Given the description of an element on the screen output the (x, y) to click on. 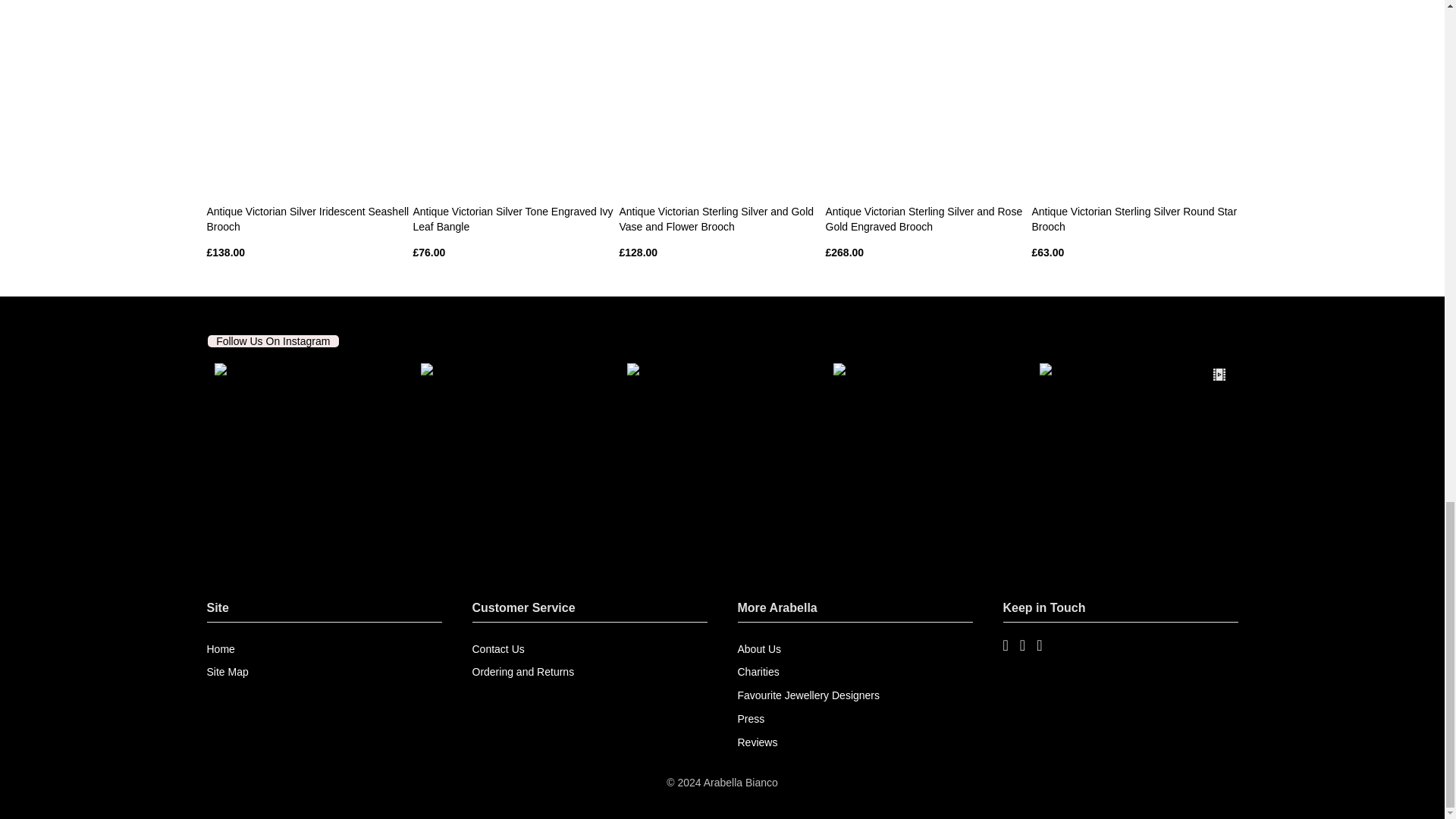
Antique Victorian Silver Iridescent Seashell Brooch (307, 219)
